Given the description of an element on the screen output the (x, y) to click on. 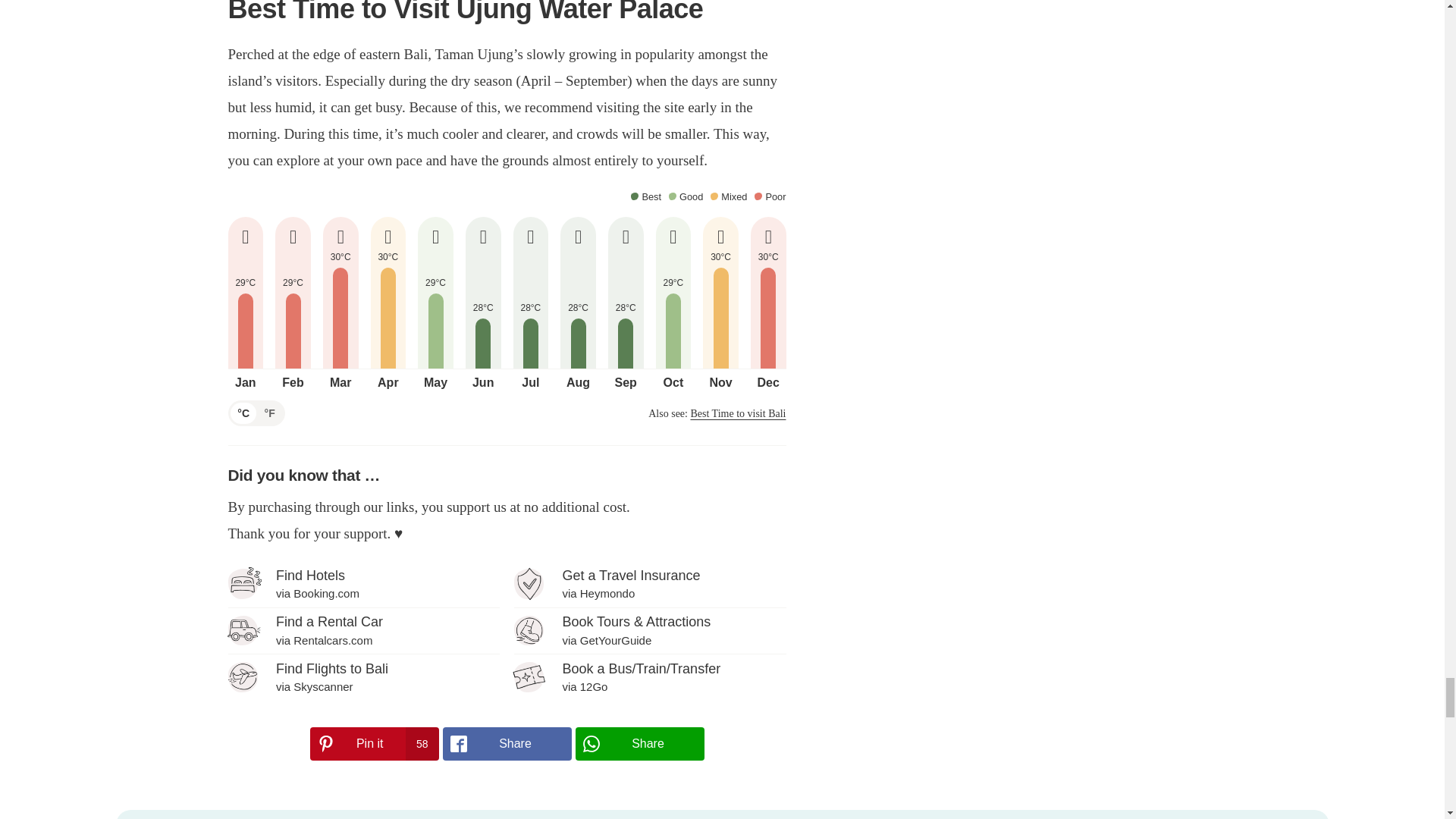
Get a Travel Insurance (649, 583)
Find a rental car (363, 630)
Share on Whatsapp (639, 743)
Find Cheap Flights (363, 676)
Book a Bus or Transfer (649, 676)
Find Hotels (363, 583)
Share on Facebook (507, 743)
